Given the description of an element on the screen output the (x, y) to click on. 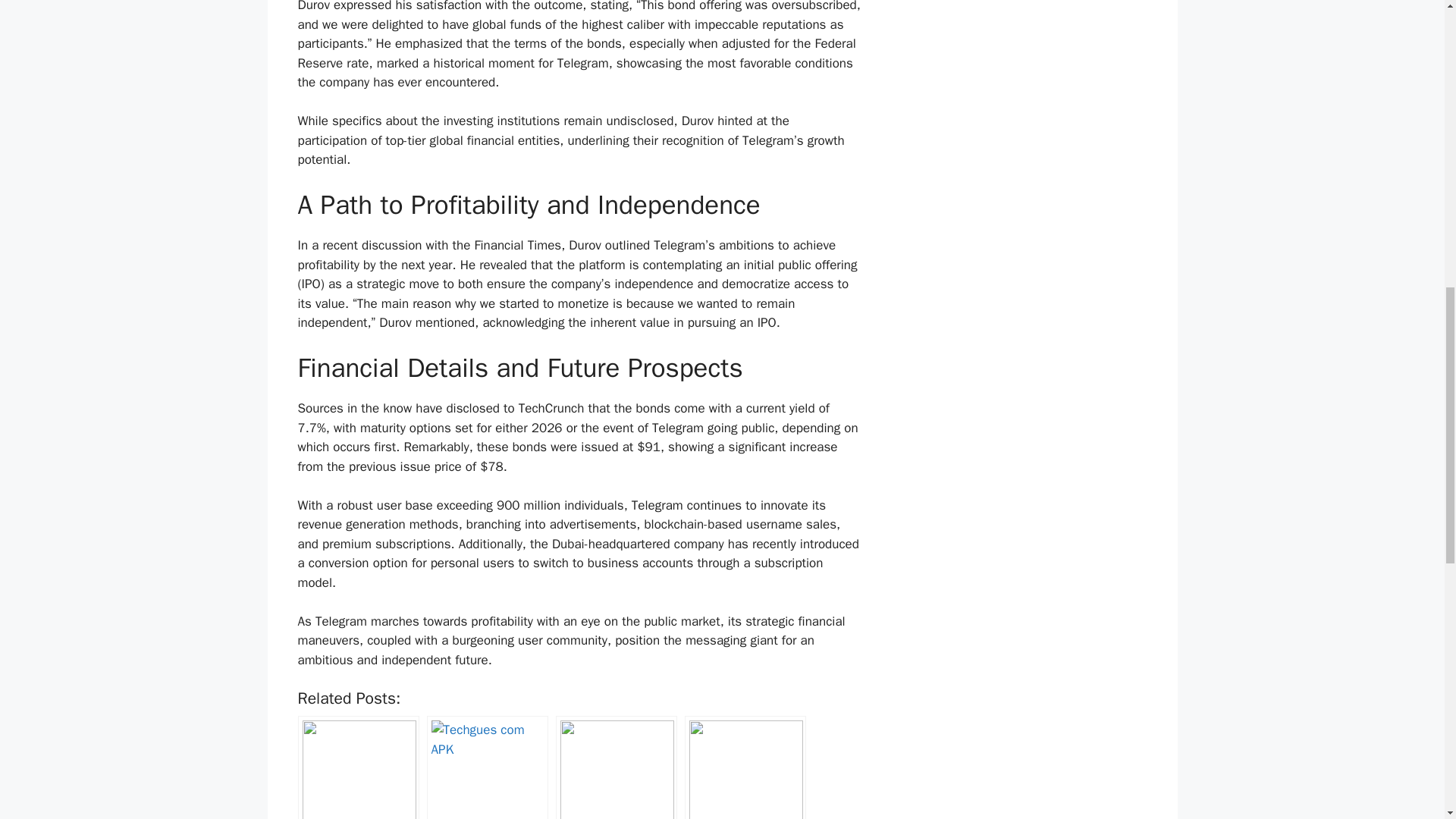
Techgues com APK, Information About The APK (487, 767)
Techgues com APK, Information About The APK (487, 767)
